Given the description of an element on the screen output the (x, y) to click on. 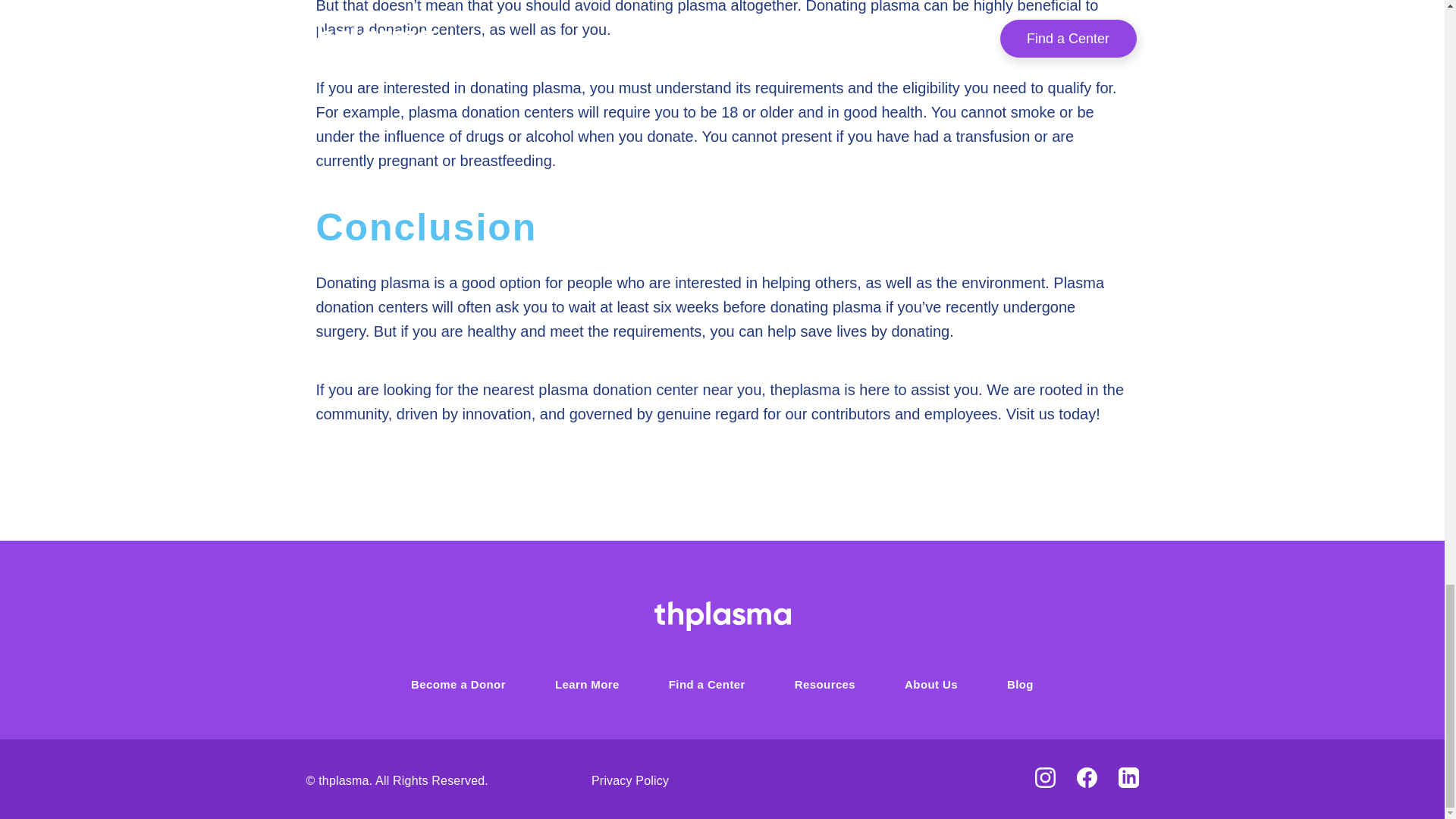
Homepage (721, 614)
Privacy Policy (629, 780)
Instagram (1043, 777)
Become a Donor (457, 684)
LinkedIn (1128, 777)
Learn More (587, 684)
Resources (825, 684)
About Us (931, 684)
nearest plasma donation (567, 389)
Find a Center (706, 684)
